Given the description of an element on the screen output the (x, y) to click on. 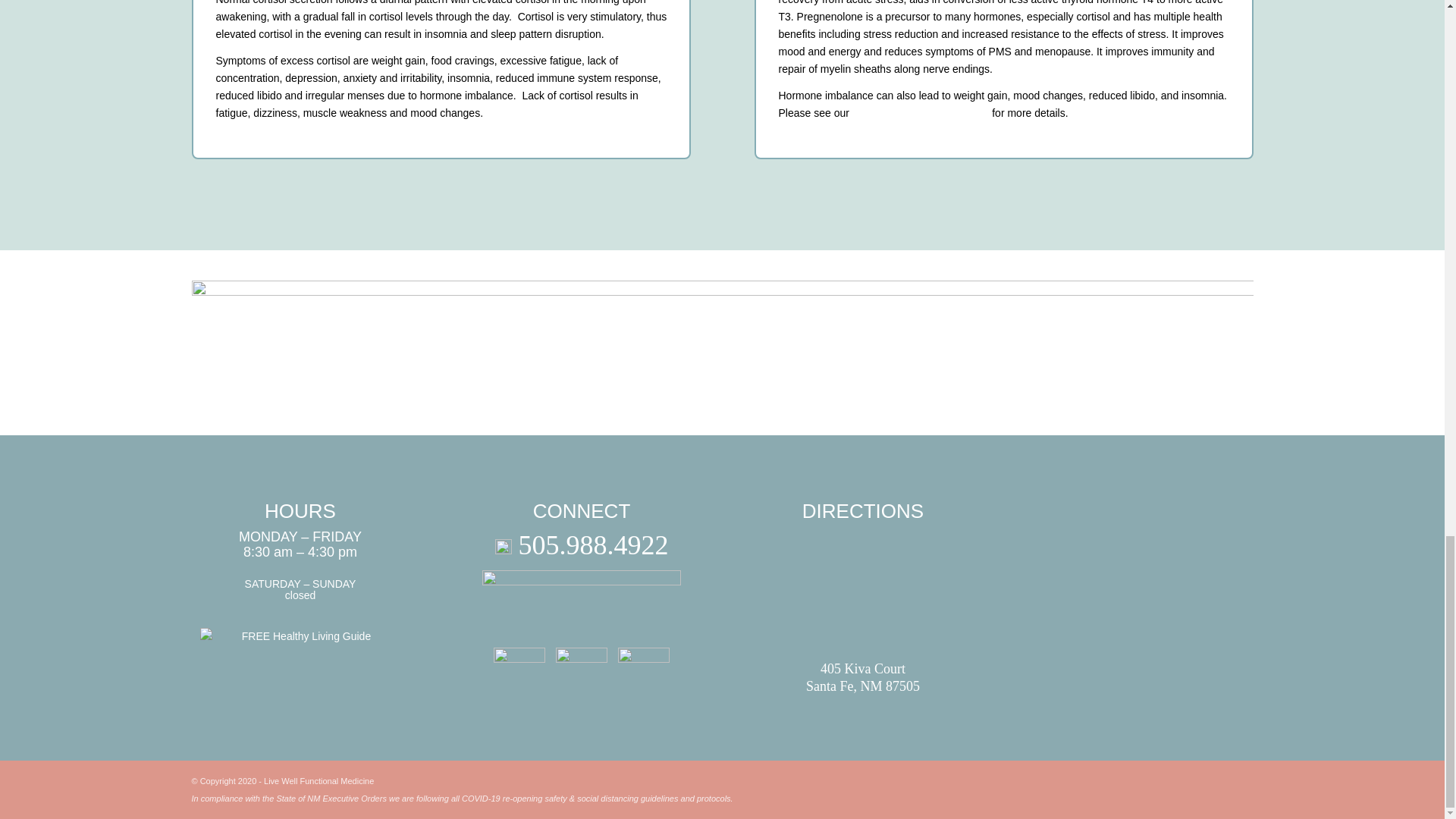
505.988.4922 (581, 544)
Hormone Replacement Page (920, 112)
